Given the description of an element on the screen output the (x, y) to click on. 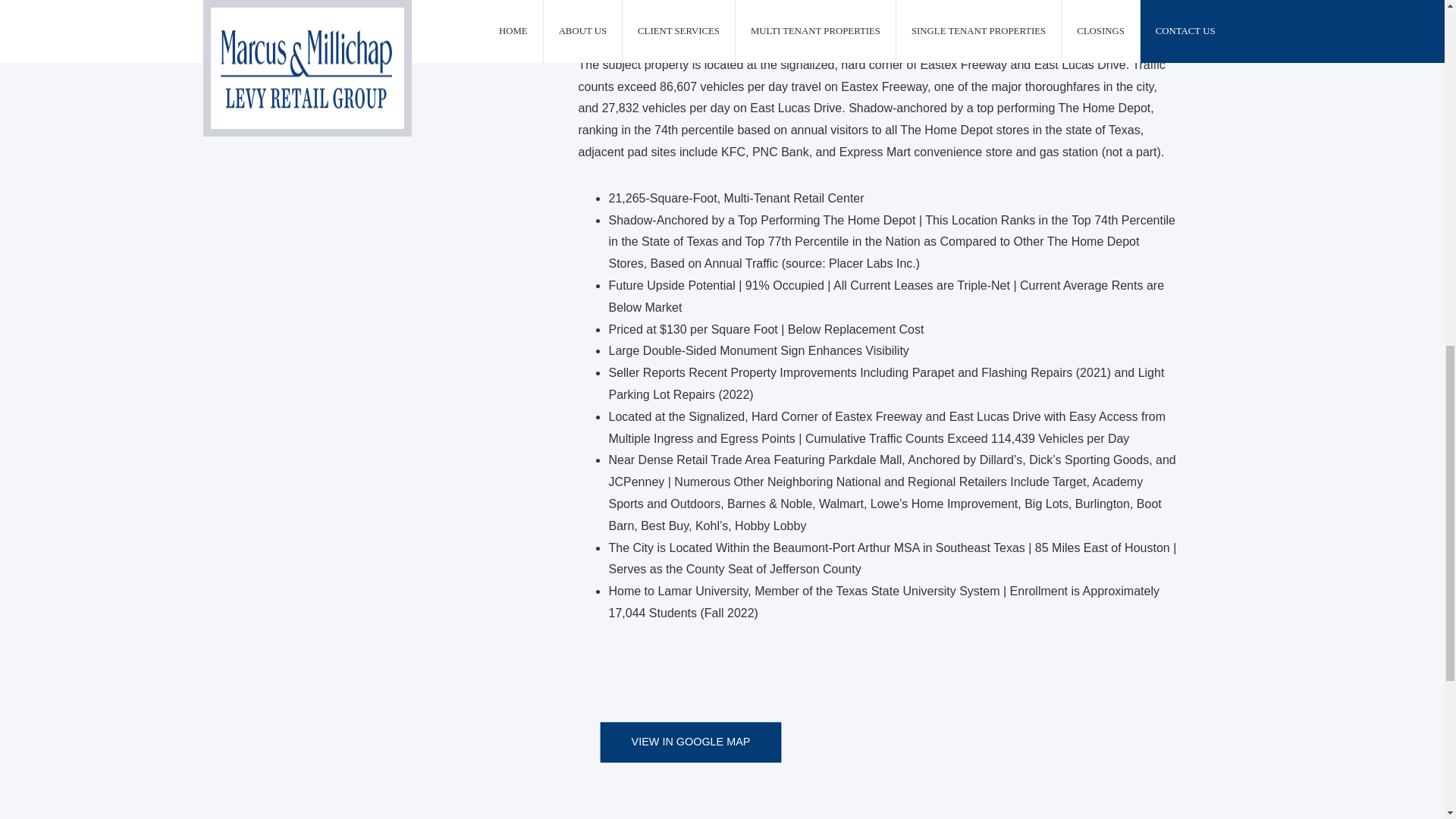
VIEW IN GOOGLE MAP (713, 746)
